Given the description of an element on the screen output the (x, y) to click on. 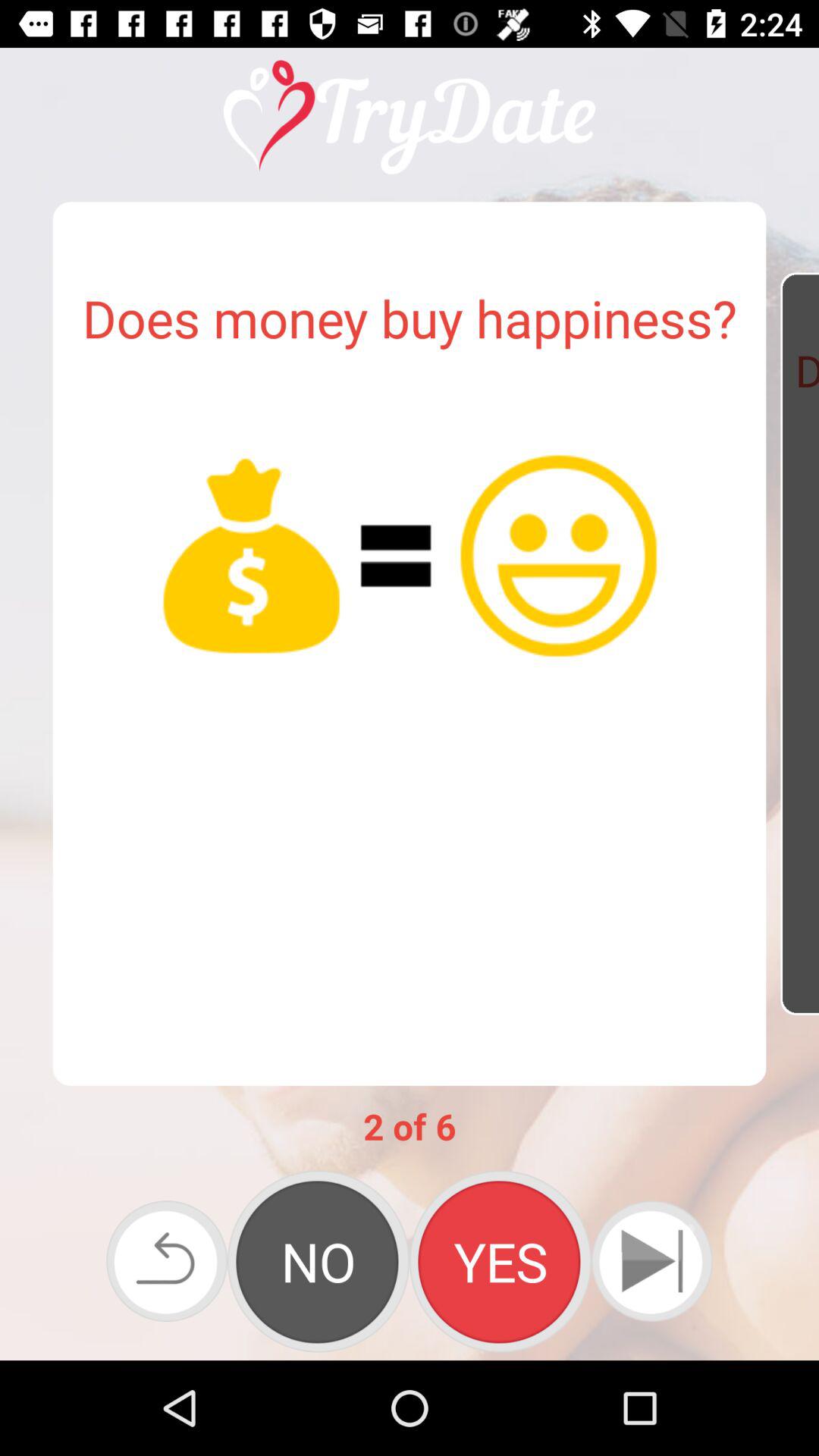
select the no option (318, 1261)
